Given the description of an element on the screen output the (x, y) to click on. 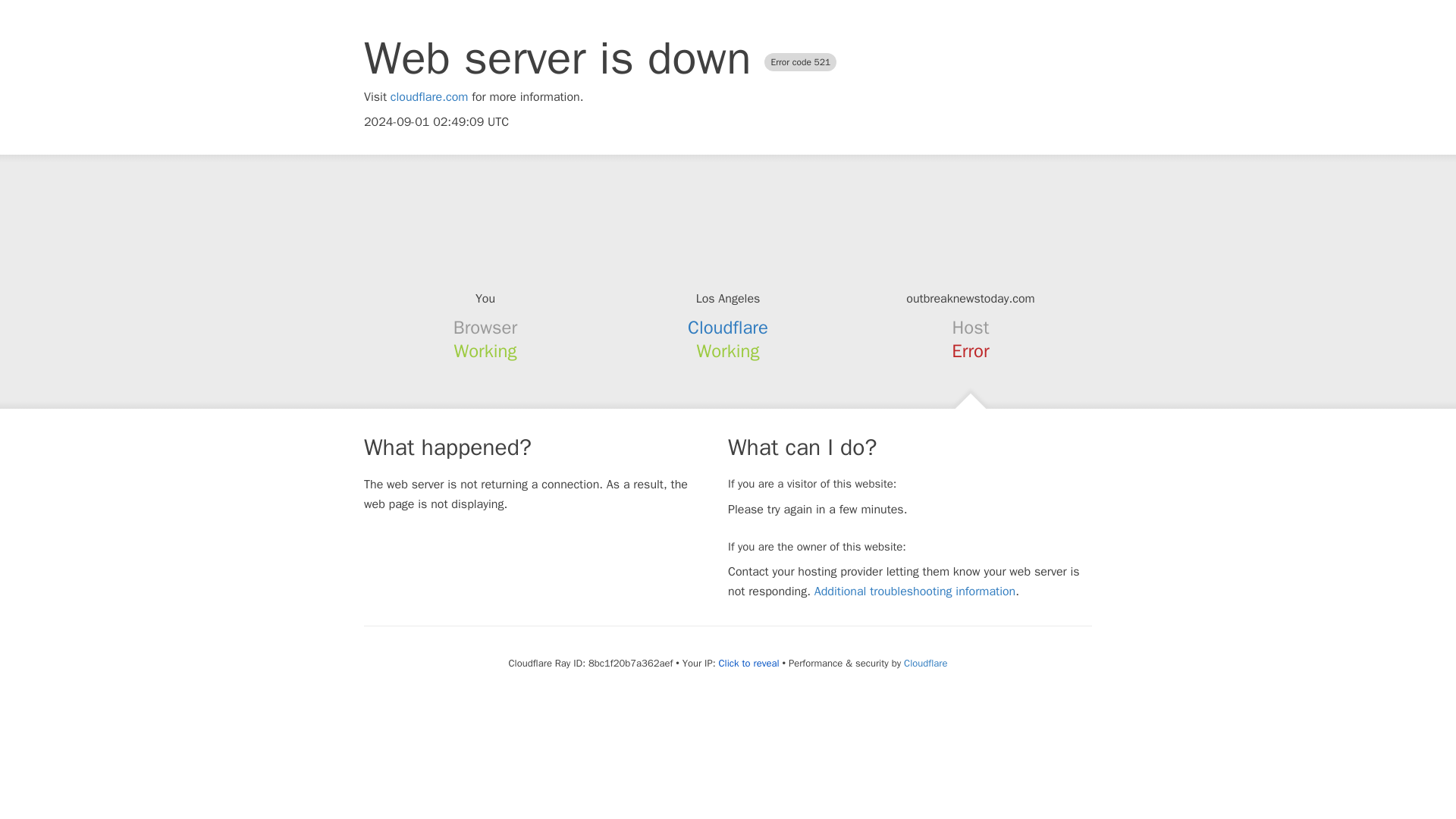
Click to reveal (748, 663)
Additional troubleshooting information (913, 590)
cloudflare.com (429, 96)
Cloudflare (925, 662)
Cloudflare (727, 327)
